Given the description of an element on the screen output the (x, y) to click on. 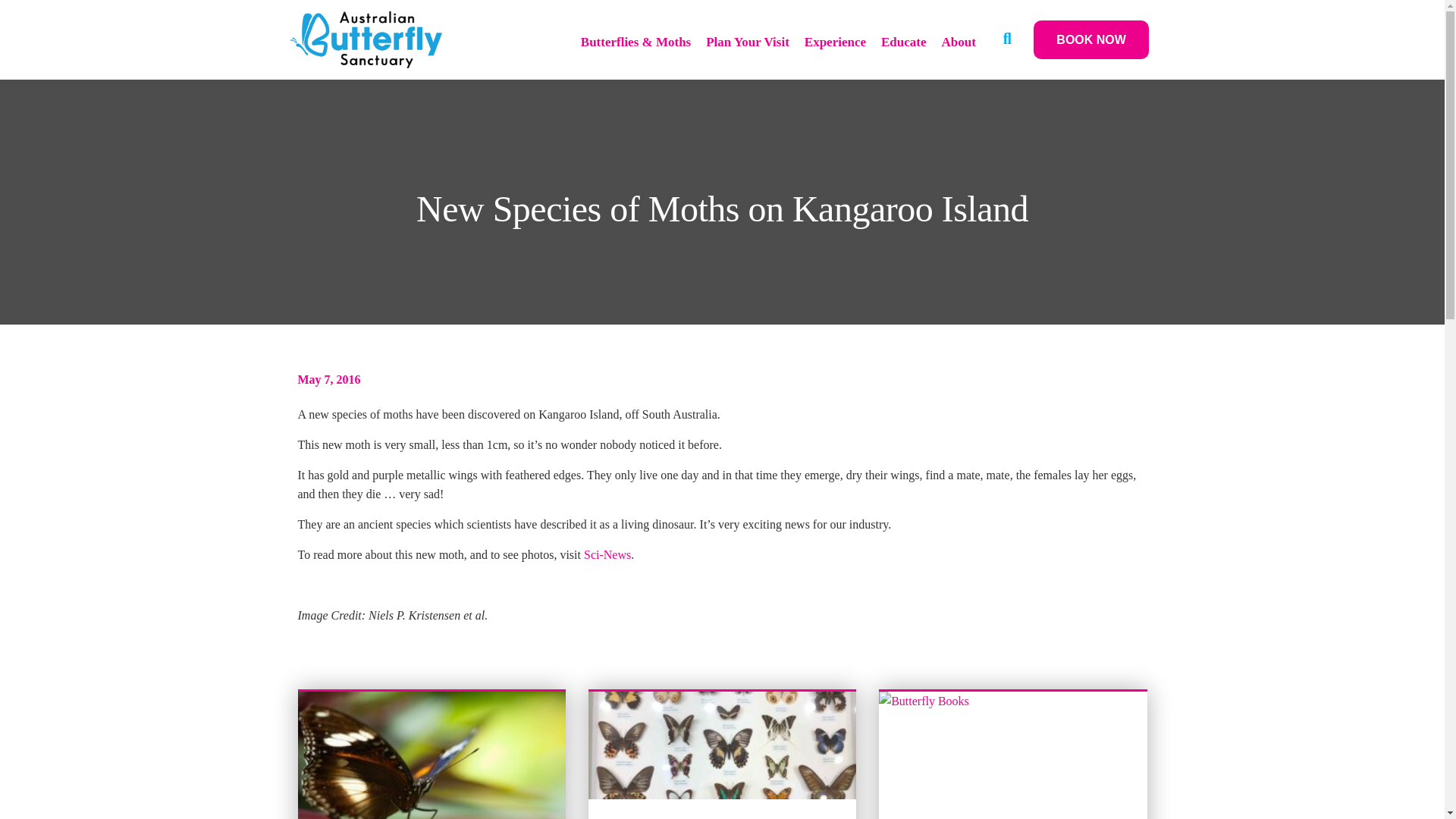
Educate (896, 41)
Plan Your Visit (739, 41)
Experience (827, 41)
